Given the description of an element on the screen output the (x, y) to click on. 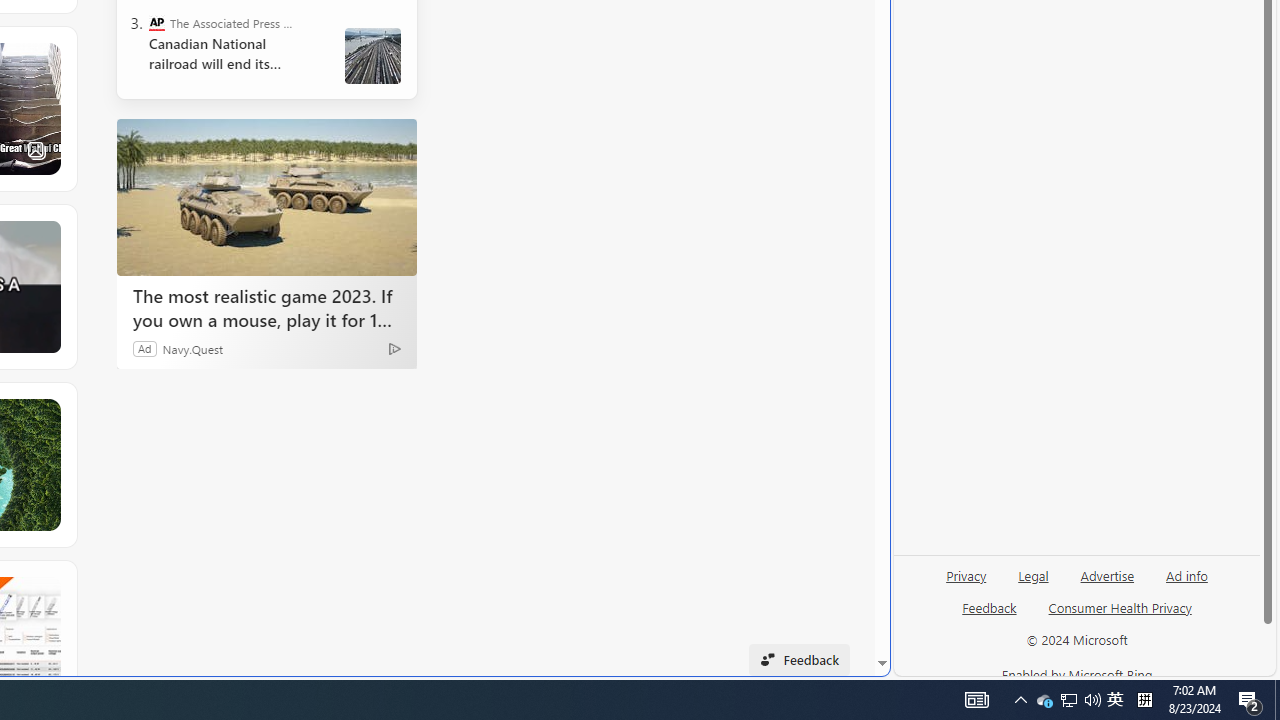
Navy.Quest (193, 348)
 Canada Railroads Unions (372, 56)
The Associated Press - Business News (156, 22)
